Given the description of an element on the screen output the (x, y) to click on. 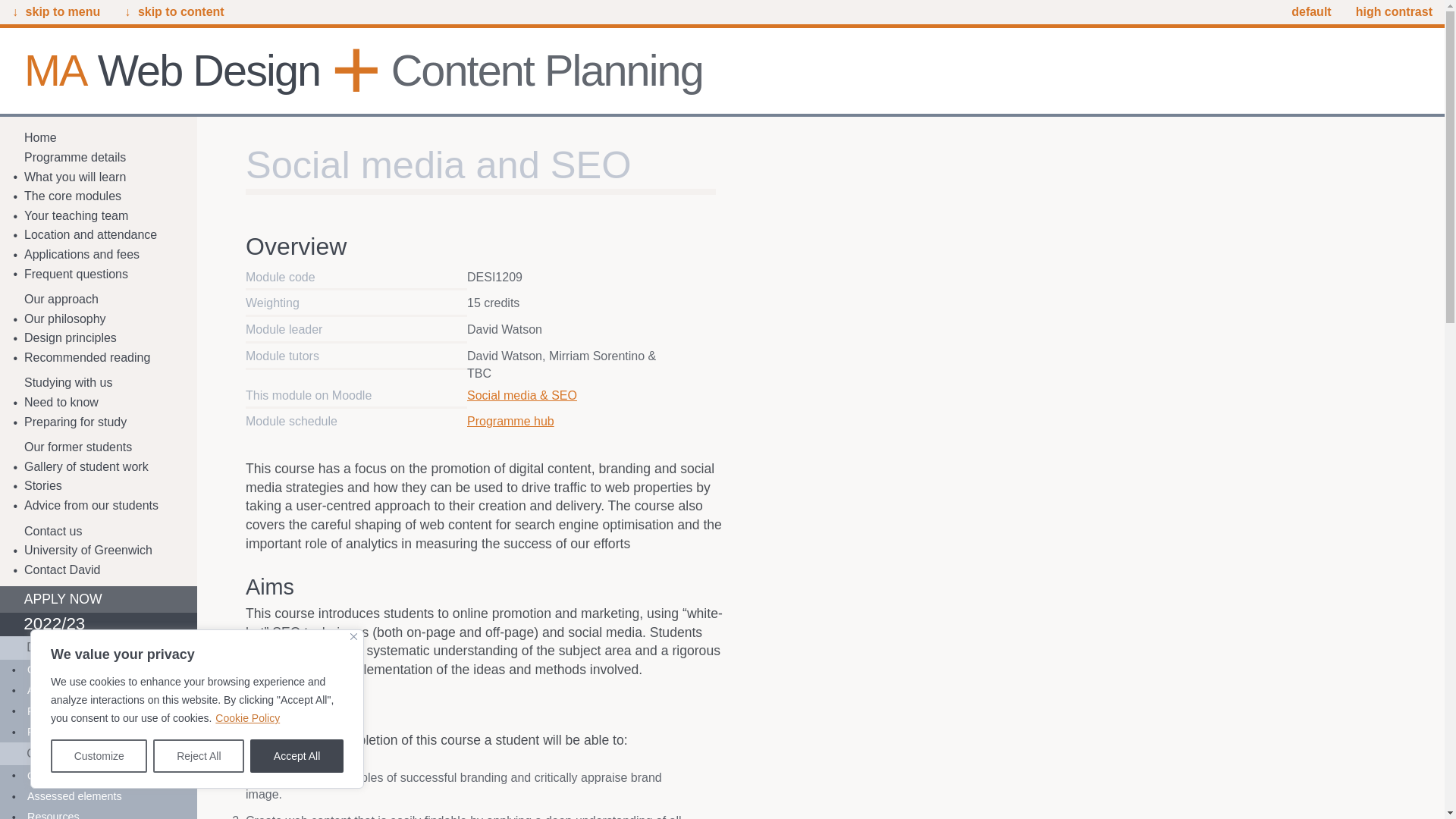
The core modules (98, 196)
Programme details (98, 157)
Our philosophy (98, 319)
Customize (98, 756)
Studying with us (98, 383)
What you will learn (98, 177)
Stories (98, 486)
skip to content (173, 12)
Reject All (198, 756)
skip to menu (56, 12)
